Given the description of an element on the screen output the (x, y) to click on. 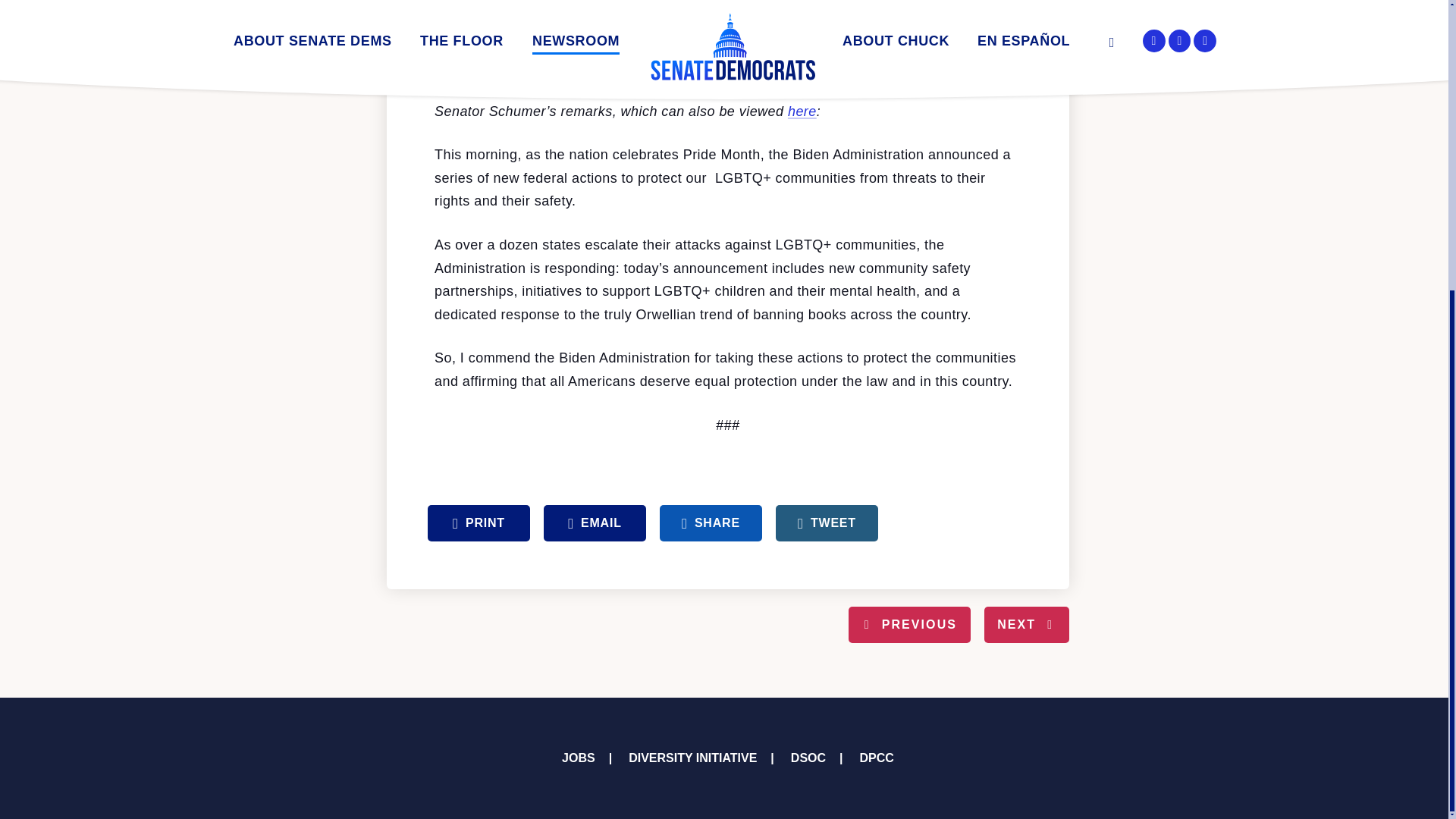
PRINT (478, 523)
TWEET (826, 523)
NEXT (1026, 624)
Jobs (578, 758)
DIVERSITY INITIATIVE (692, 758)
Diversity Initiative (692, 758)
EMAIL (594, 523)
SHARE (710, 523)
PREVIOUS (909, 624)
JOBS (578, 758)
